Given the description of an element on the screen output the (x, y) to click on. 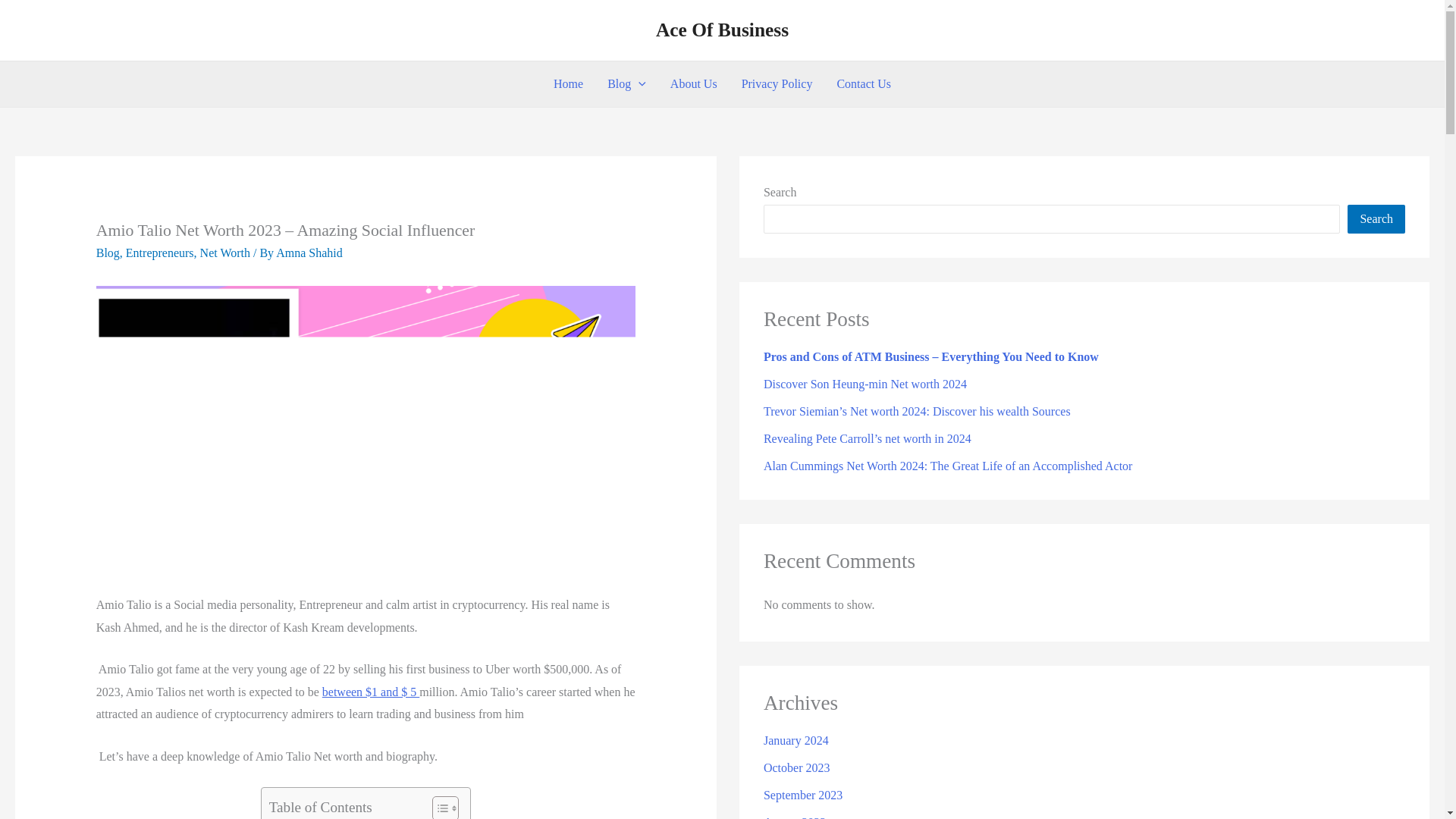
Amna Shahid (309, 252)
View all posts by Amna Shahid (309, 252)
About Us (693, 84)
Net Worth (225, 252)
Blog (626, 84)
Entrepreneurs (159, 252)
Ace Of Business (722, 29)
Home (568, 84)
Blog (107, 252)
Privacy Policy (777, 84)
Contact Us (863, 84)
